Given the description of an element on the screen output the (x, y) to click on. 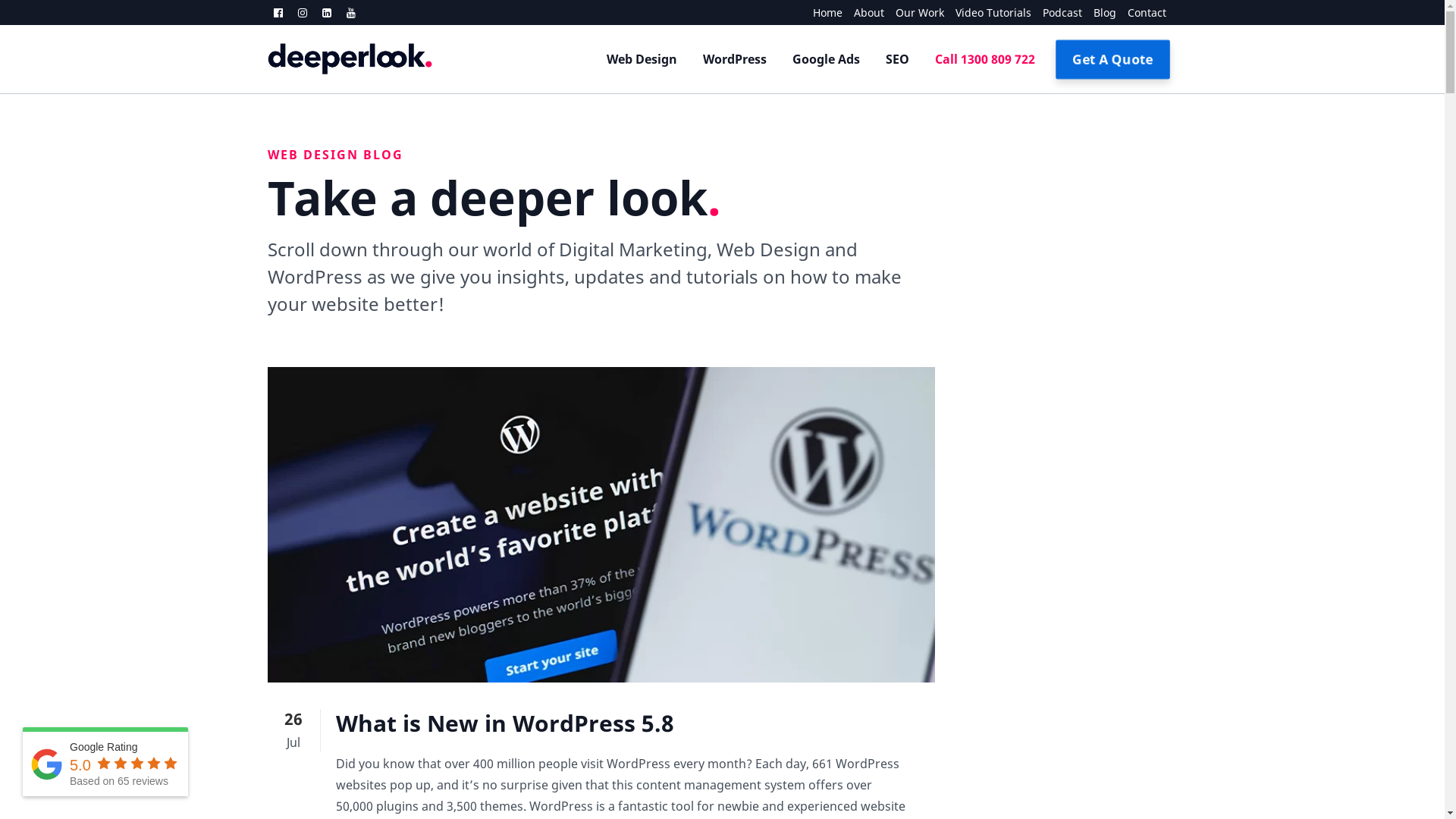
Contact Element type: text (1141, 12)
About Element type: text (862, 12)
Home Element type: text (820, 12)
Get A Quote Element type: text (1112, 58)
WordPress Element type: text (734, 59)
Podcast Element type: text (1056, 12)
Blog Element type: text (1098, 12)
What is New in WordPress 5.8 Element type: hover (600, 524)
What is New in WordPress 5.8 Element type: text (504, 722)
SEO Element type: text (896, 59)
Our Work Element type: text (914, 12)
Call 1300 809 722 Element type: text (985, 59)
Google Ads Element type: text (825, 59)
Video Tutorials Element type: text (986, 12)
Web Design Element type: text (641, 59)
